Given the description of an element on the screen output the (x, y) to click on. 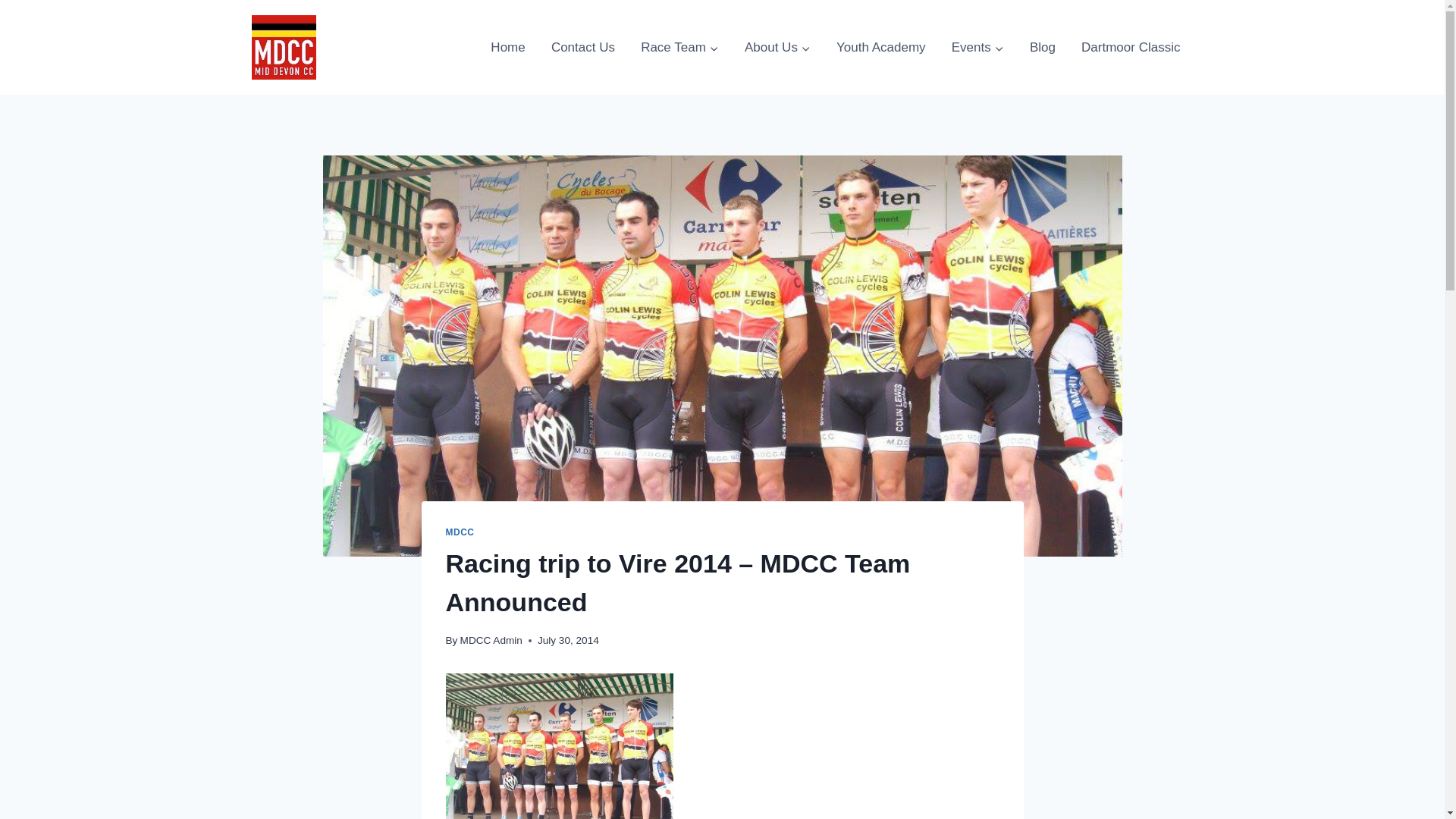
Youth Academy (881, 47)
Contact Us (582, 47)
About Us (778, 47)
Home (507, 47)
Events (977, 47)
Race Team (679, 47)
